Given the description of an element on the screen output the (x, y) to click on. 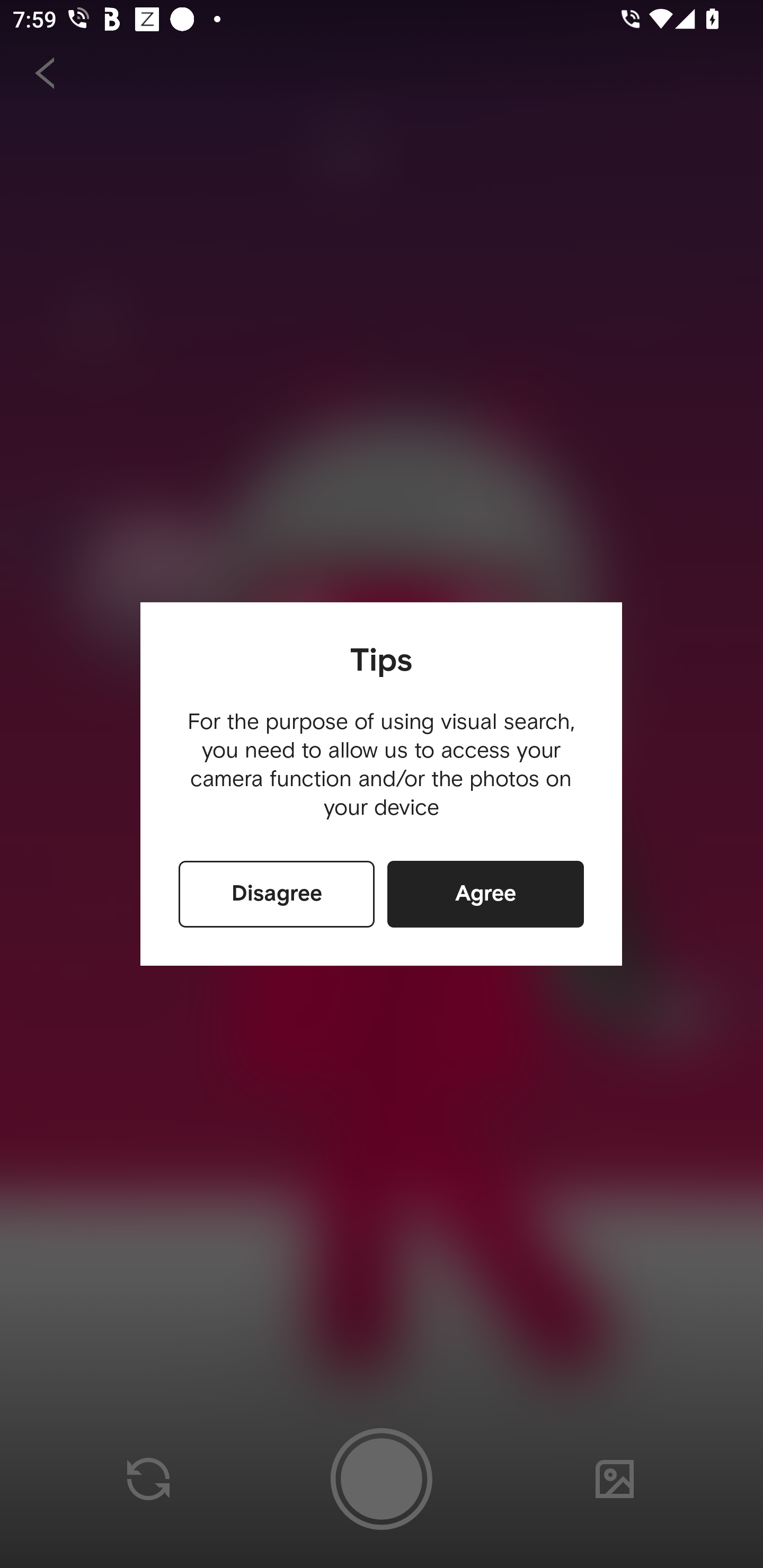
Disagree (276, 894)
Agree (485, 894)
